Given the description of an element on the screen output the (x, y) to click on. 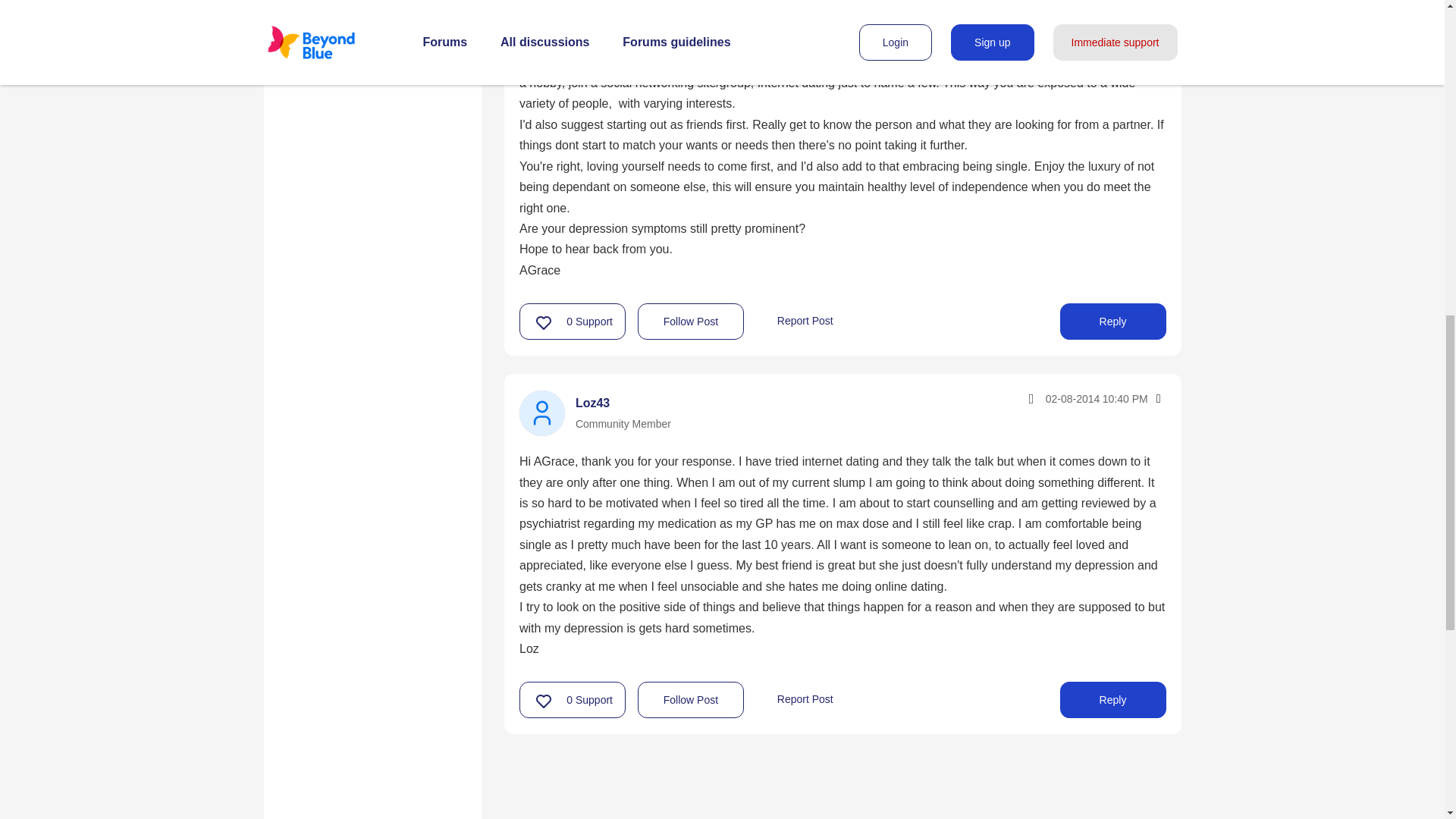
Posted on (1063, 398)
Caring for myself and others (372, 38)
Click here to give support to this post. (543, 322)
Loz43 (541, 412)
Mental health conditions (360, 4)
People like me (331, 74)
Show option menu (1157, 398)
